Given the description of an element on the screen output the (x, y) to click on. 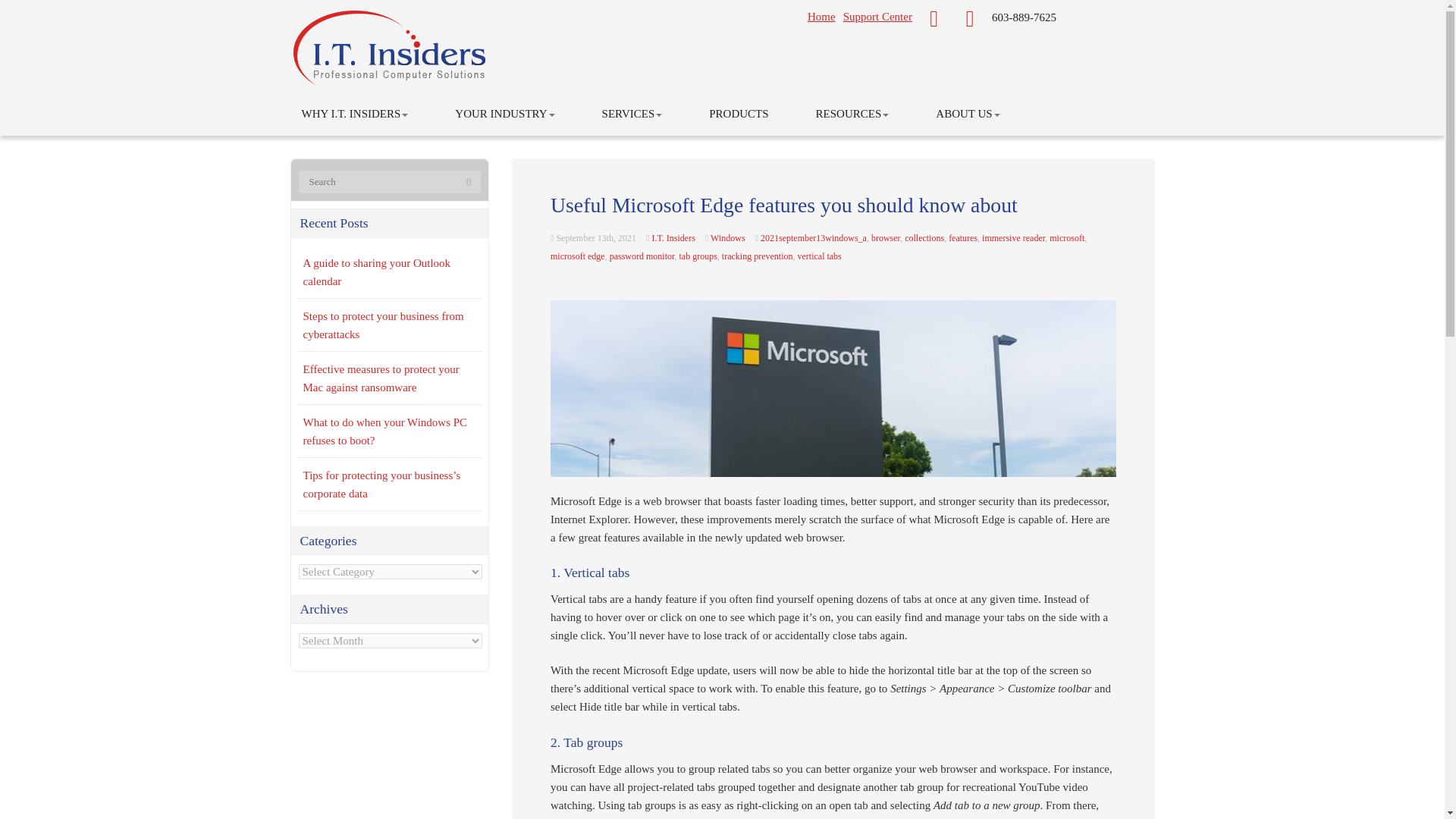
Posts by I.T. Insiders (672, 237)
ABOUT US (967, 113)
SERVICES (632, 113)
PRODUCTS (737, 113)
YOUR INDUSTRY (505, 113)
Support Center (877, 16)
WHY I.T. INSIDERS (354, 113)
RESOURCES (853, 113)
Home (821, 16)
